Given the description of an element on the screen output the (x, y) to click on. 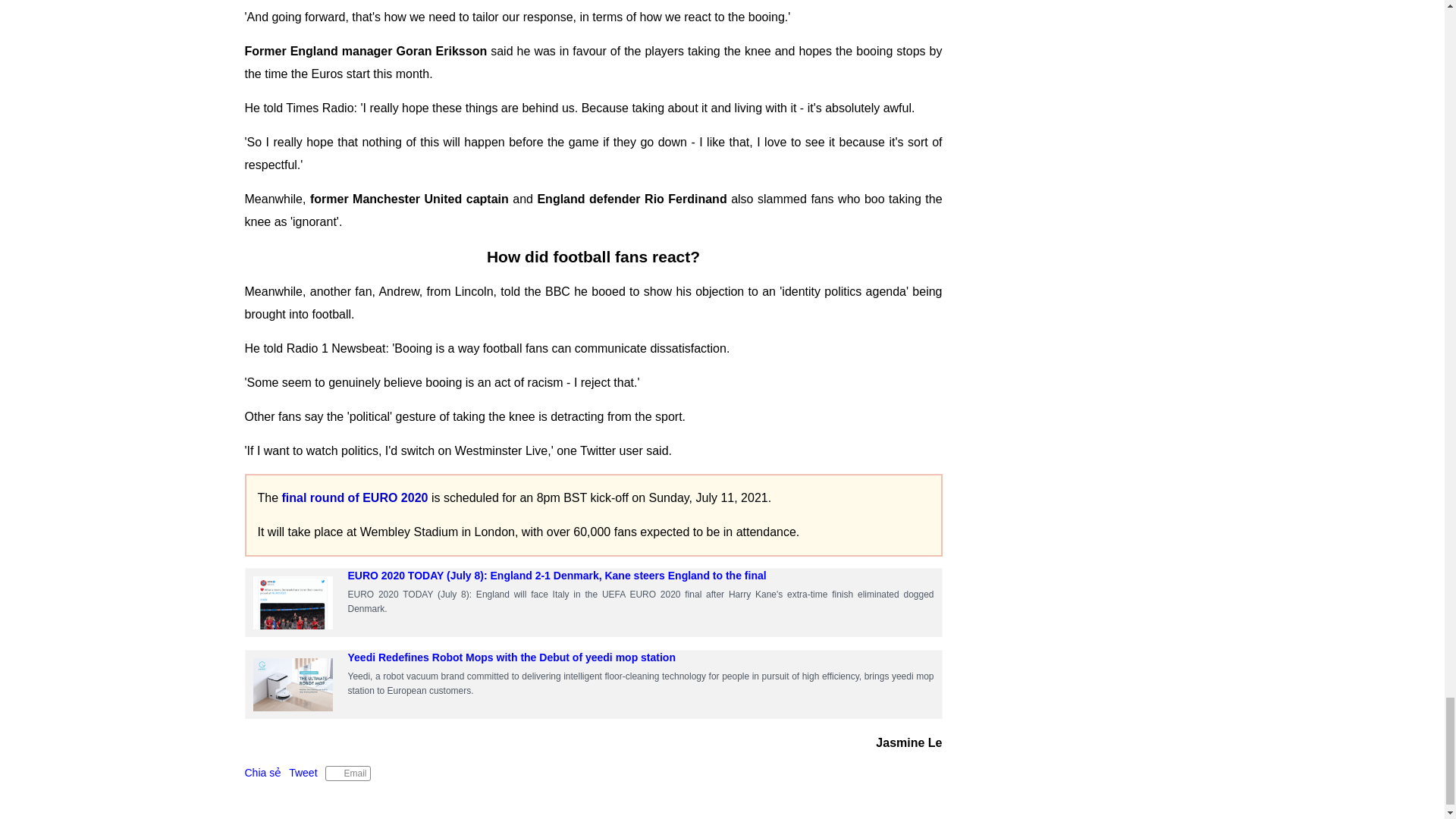
final round of EURO 2020 (356, 497)
